Given the description of an element on the screen output the (x, y) to click on. 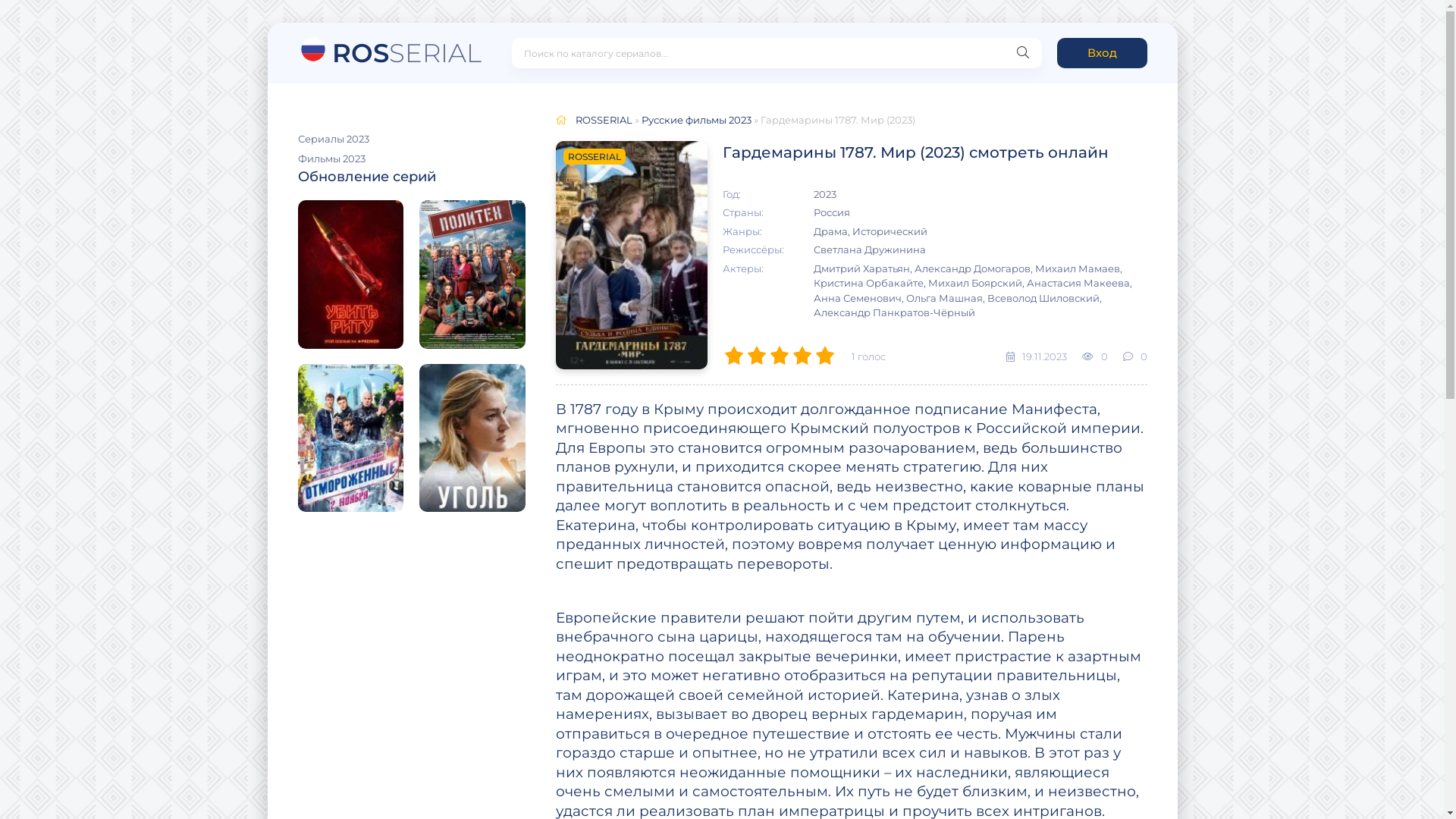
ROSSERIAL Element type: text (602, 119)
ROSSERIAL Element type: text (388, 49)
4 Element type: text (801, 355)
3 Element type: text (778, 355)
2 Element type: text (755, 355)
1 Element type: text (732, 355)
5 Element type: text (823, 355)
